Given the description of an element on the screen output the (x, y) to click on. 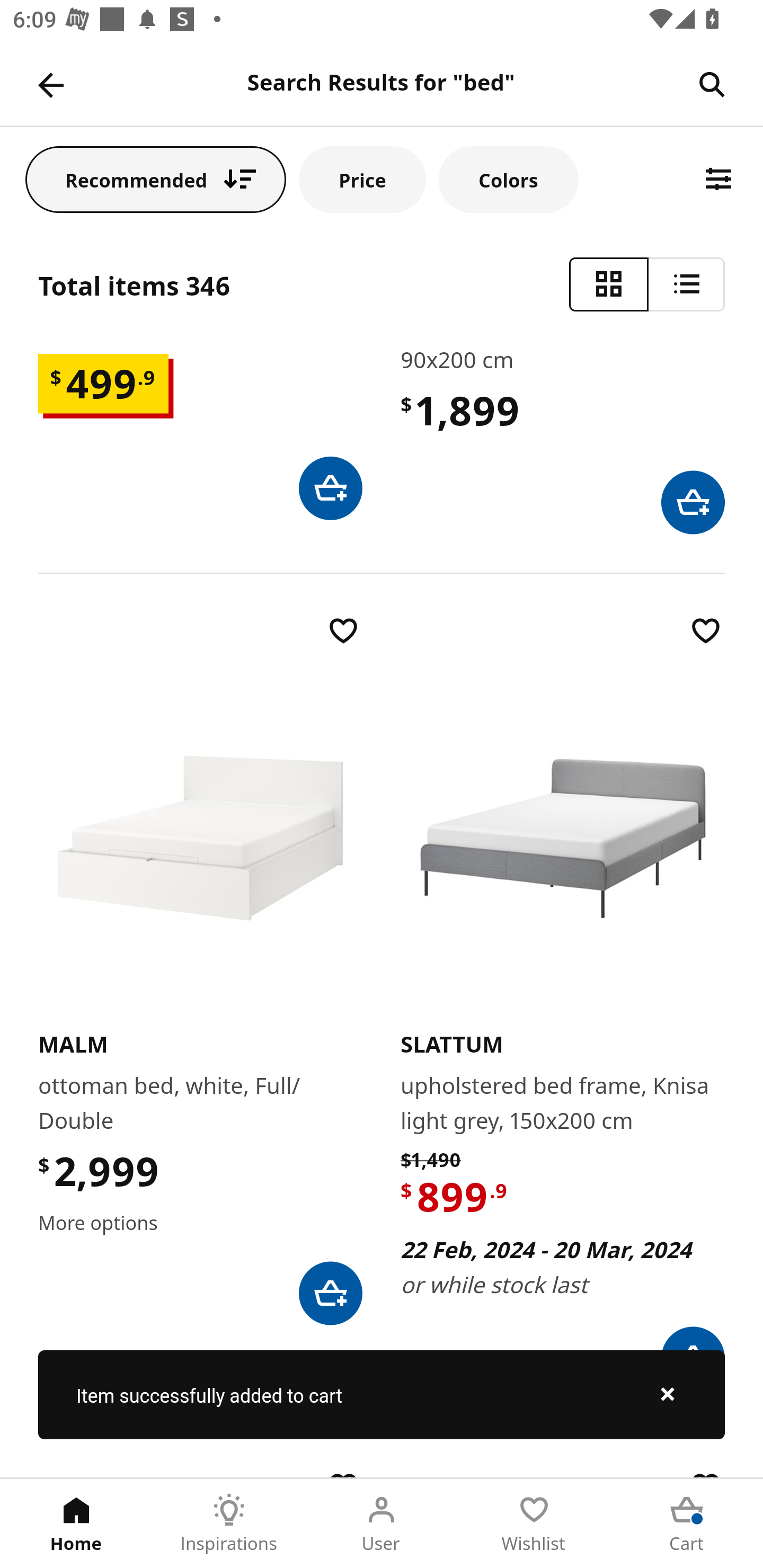
Recommended (155, 179)
Price (362, 179)
Colors (508, 179)
Item successfully added to cart (381, 1394)
Home
Tab 1 of 5 (76, 1522)
Inspirations
Tab 2 of 5 (228, 1522)
User
Tab 3 of 5 (381, 1522)
Wishlist
Tab 4 of 5 (533, 1522)
Cart
Tab 5 of 5 (686, 1522)
